Given the description of an element on the screen output the (x, y) to click on. 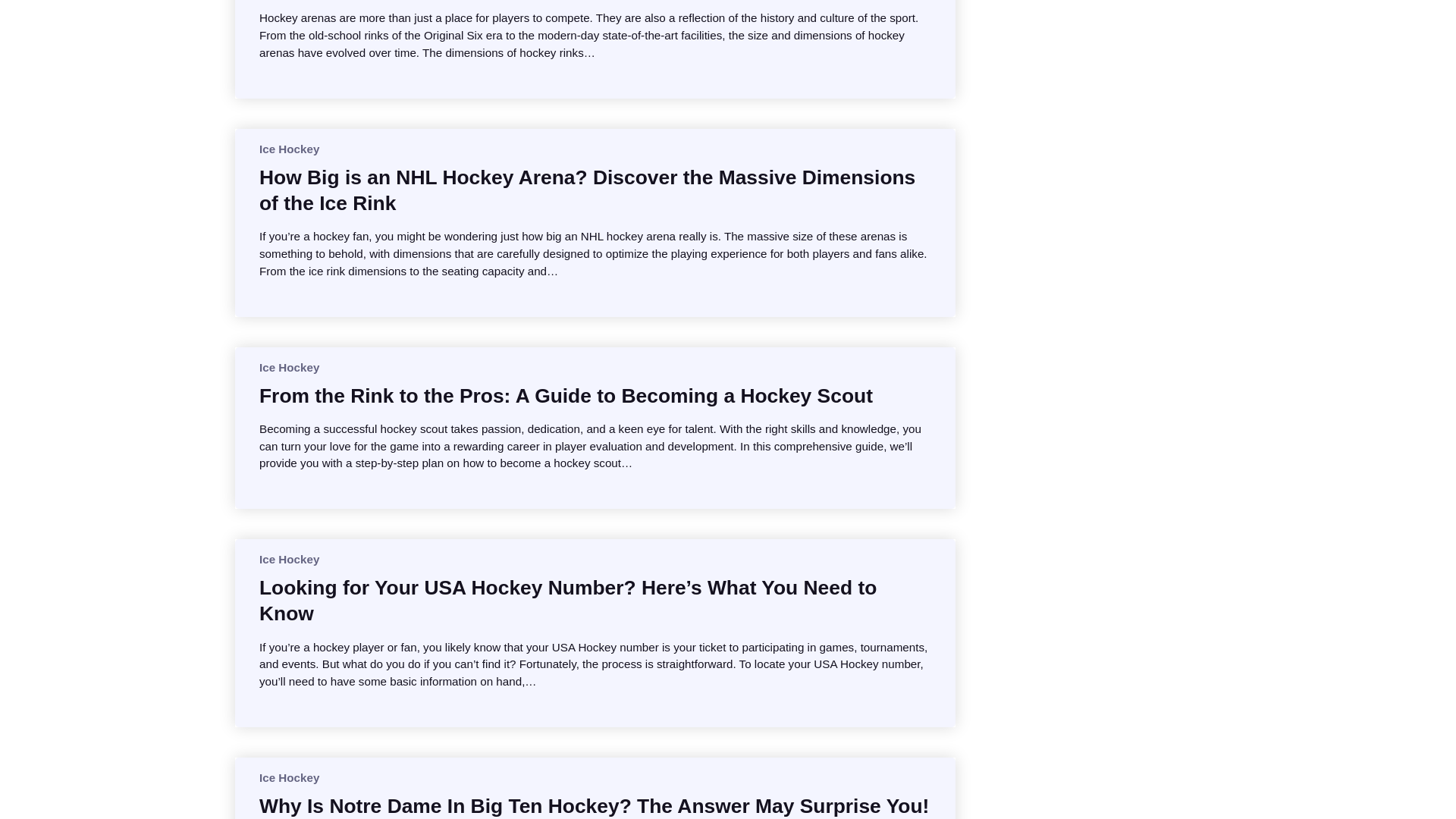
Ice Hockey (288, 558)
Ice Hockey (288, 148)
Ice Hockey (288, 777)
Ice Hockey (288, 367)
